Given the description of an element on the screen output the (x, y) to click on. 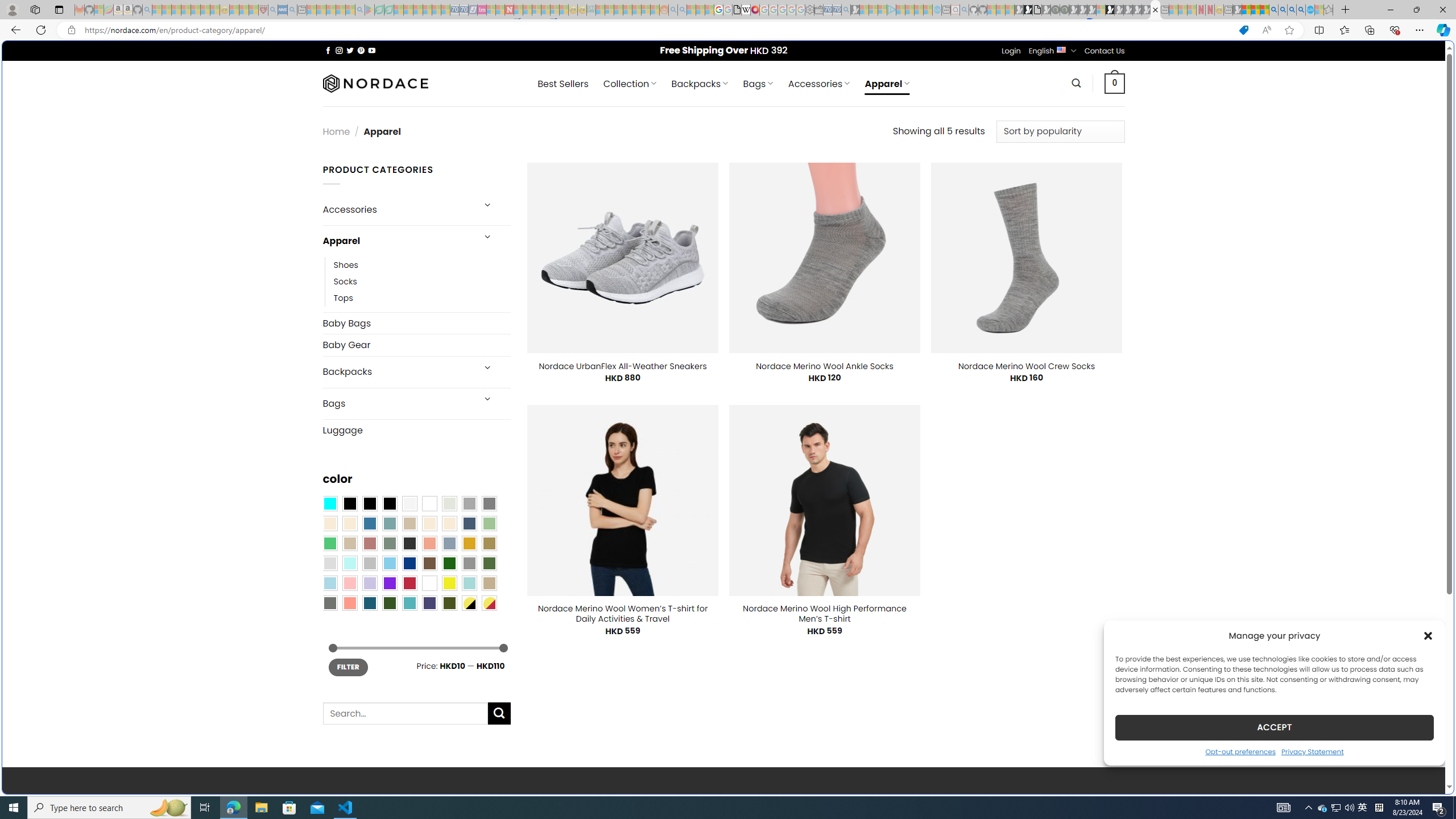
Follow on Facebook (327, 49)
Go to top (1421, 777)
Microsoft Start Gaming - Sleeping (854, 9)
Pearly White (408, 503)
Favorites - Sleeping (1328, 9)
Baby Bags (416, 323)
Home | Sky Blue Bikes - Sky Blue Bikes (1118, 242)
Cream (449, 522)
Light Green (488, 522)
Forest (389, 602)
